Given the description of an element on the screen output the (x, y) to click on. 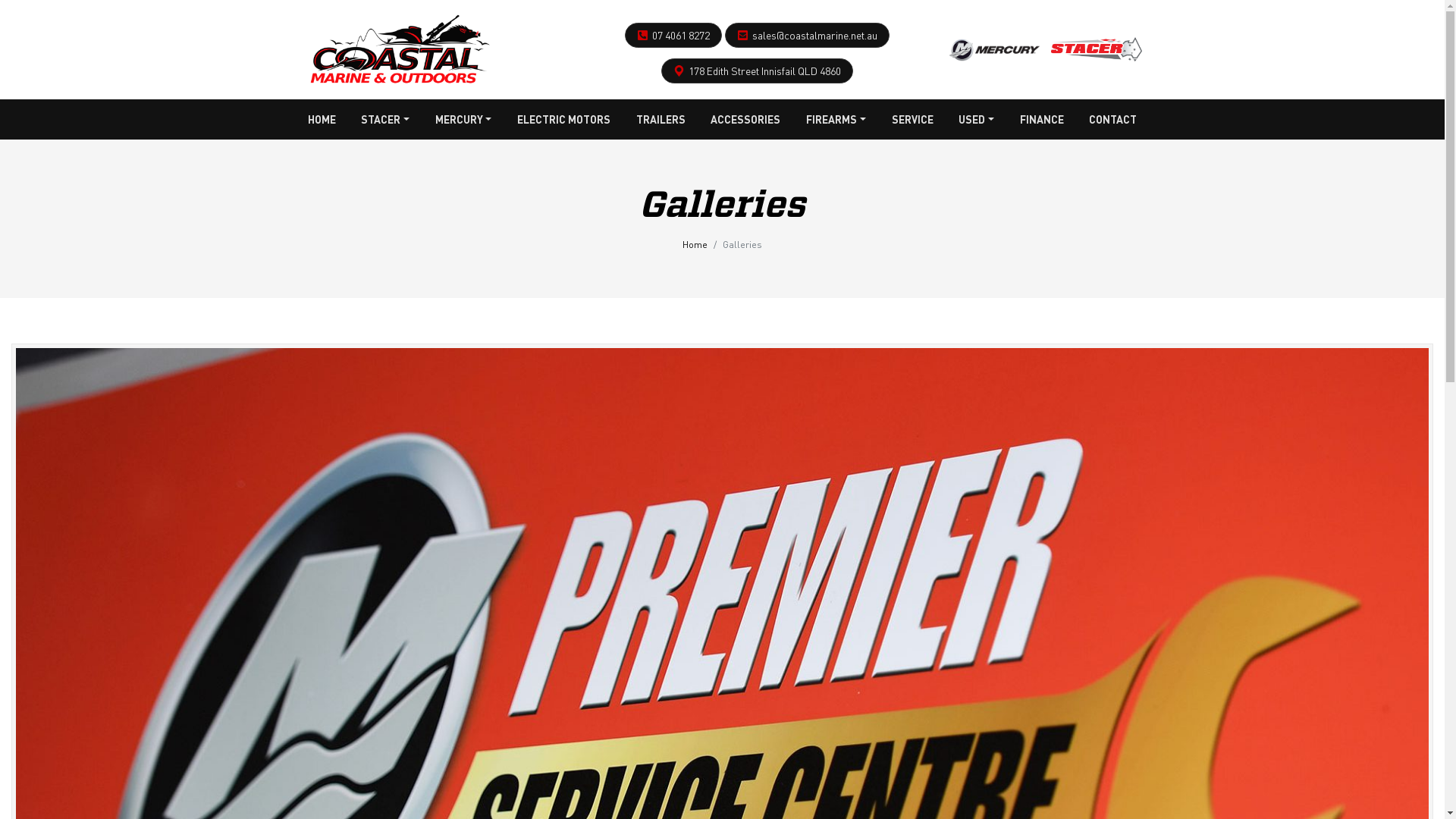
07 4061 8272 Element type: text (680, 35)
TRAILERS Element type: text (660, 119)
MERCURY Element type: text (463, 119)
SERVICE Element type: text (912, 119)
Home Element type: text (694, 244)
178 Edith Street Innisfail QLD 4860 Element type: text (764, 70)
USED Element type: text (976, 119)
FINANCE Element type: text (1041, 119)
CONTACT Element type: text (1112, 119)
sales@coastalmarine.net.au Element type: text (814, 35)
FIREARMS Element type: text (836, 119)
ACCESSORIES Element type: text (745, 119)
ELECTRIC MOTORS Element type: text (563, 119)
HOME Element type: text (321, 119)
... Element type: hover (397, 45)
STACER Element type: text (384, 119)
